Given the description of an element on the screen output the (x, y) to click on. 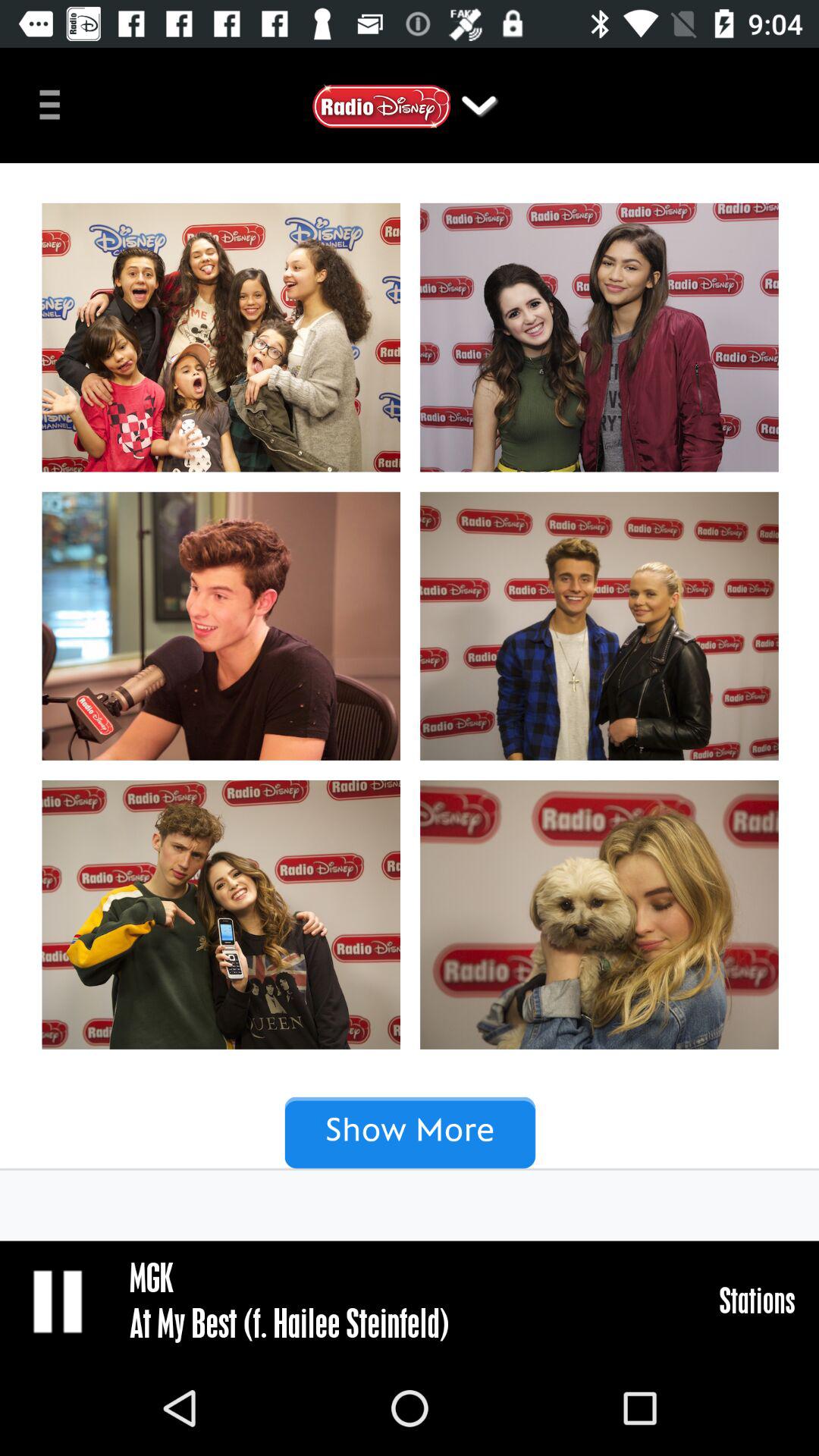
play (59, 1300)
